Given the description of an element on the screen output the (x, y) to click on. 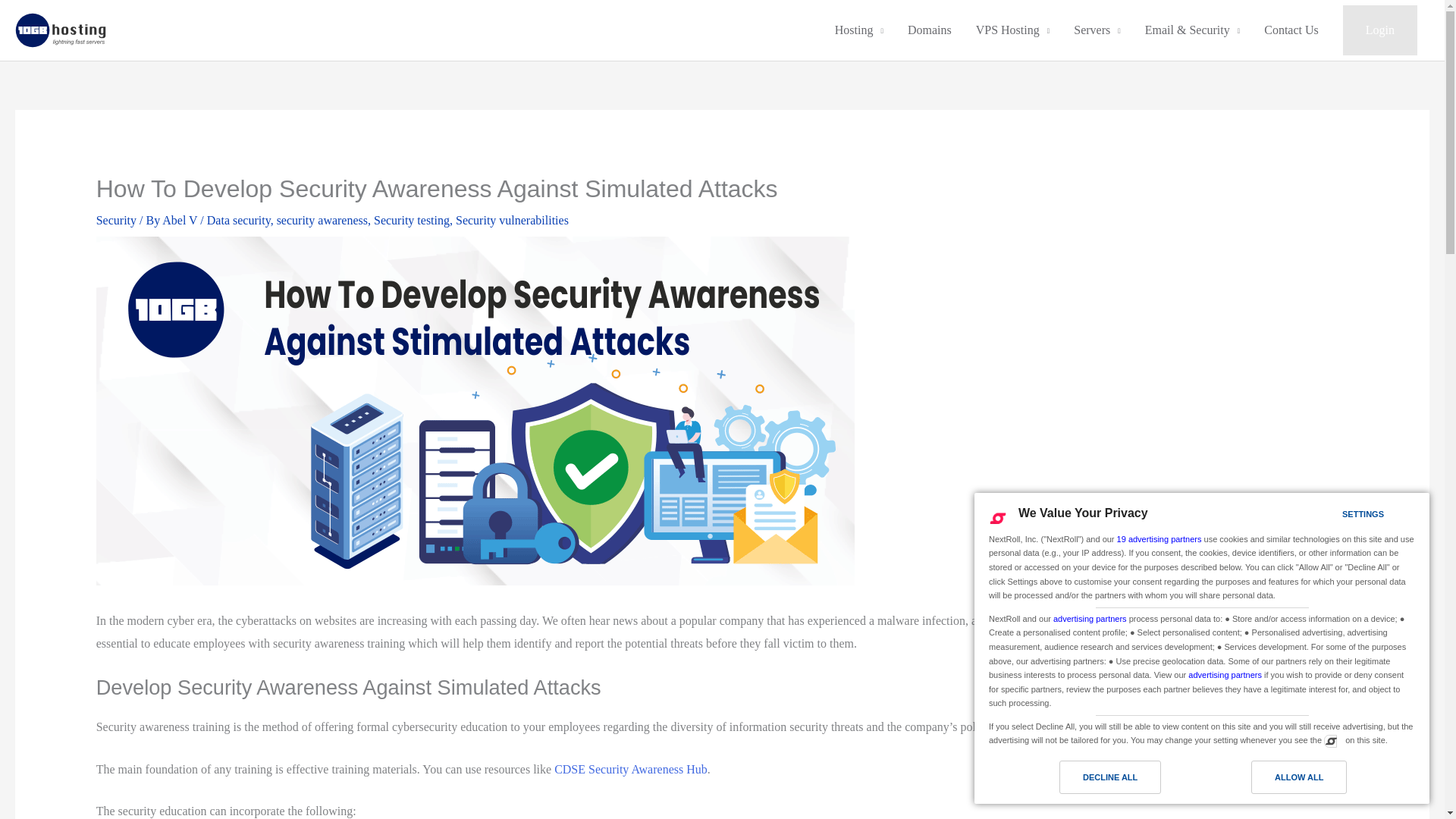
VPS Hosting (1012, 30)
CDSE Security Awareness Hub (630, 768)
Security (116, 219)
Login (1379, 29)
Abel V (180, 219)
Data security (238, 219)
Manage consent preferences (1330, 740)
security awareness (322, 219)
Security testing (411, 219)
Servers (1096, 30)
View all posts by Abel V (180, 219)
Contact Us (1291, 30)
Hosting (858, 30)
Domains (929, 30)
Security vulnerabilities (512, 219)
